Given the description of an element on the screen output the (x, y) to click on. 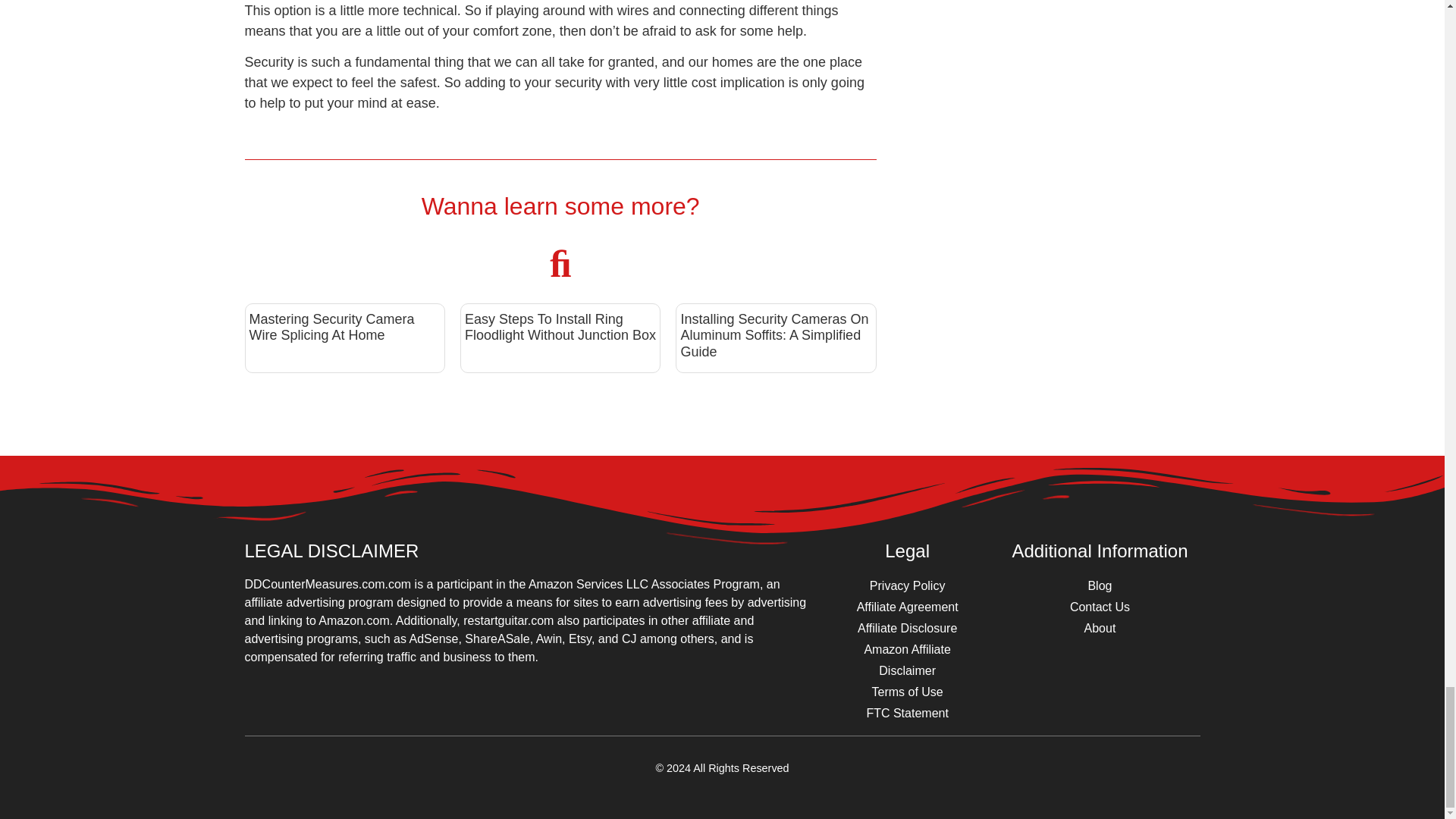
Affiliate Disclosure (907, 628)
Mastering Security Camera Wire Splicing At Home (330, 327)
Terms of Use (907, 691)
Disclaimer (907, 670)
Affiliate Agreement (907, 607)
Amazon Affiliate (907, 649)
Privacy Policy (907, 586)
FTC Statement (907, 712)
Easy Steps To Install Ring Floodlight Without Junction Box (560, 327)
